Given the description of an element on the screen output the (x, y) to click on. 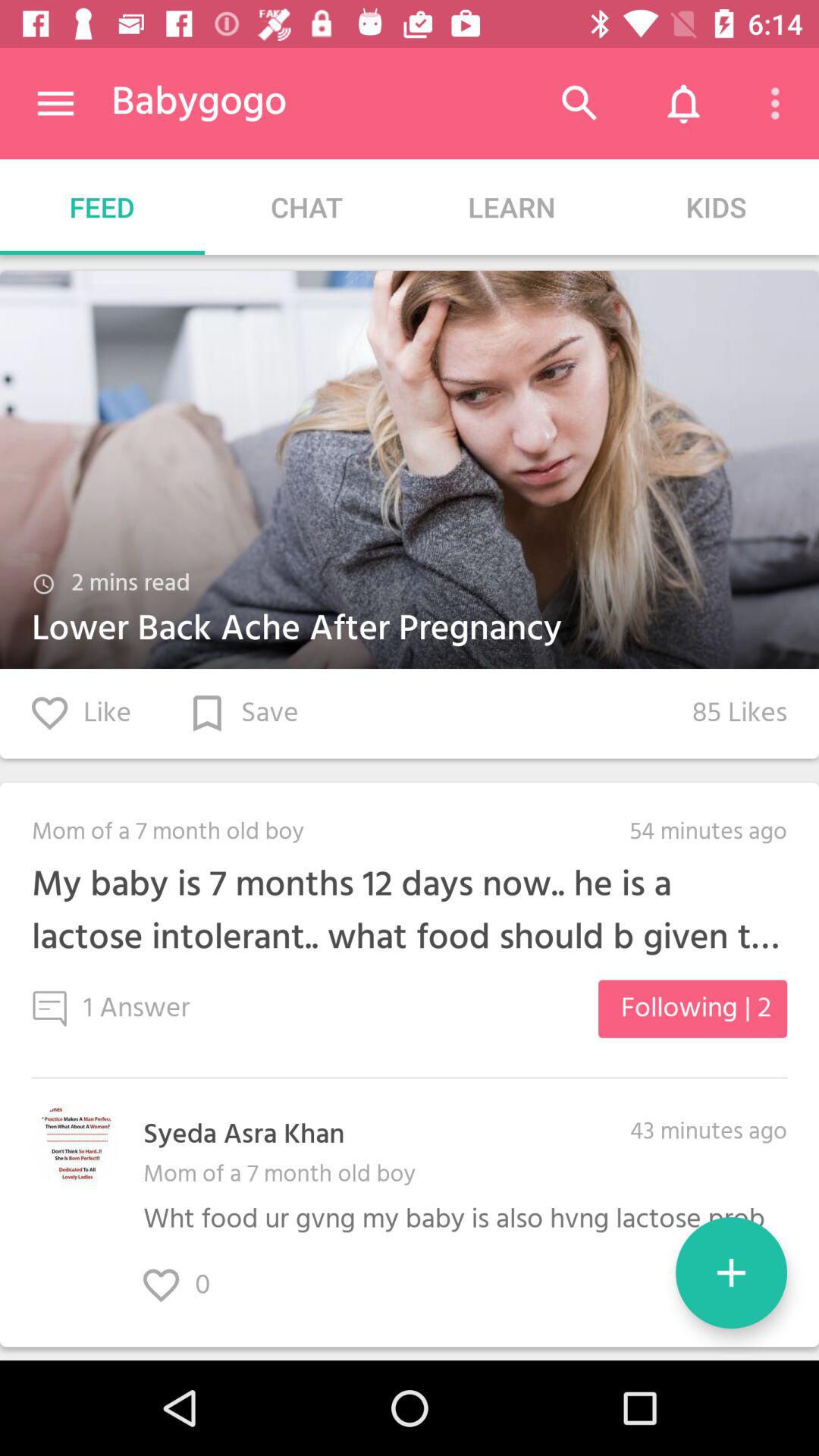
turn off the icon to the right of 1 answer item (692, 1008)
